Given the description of an element on the screen output the (x, y) to click on. 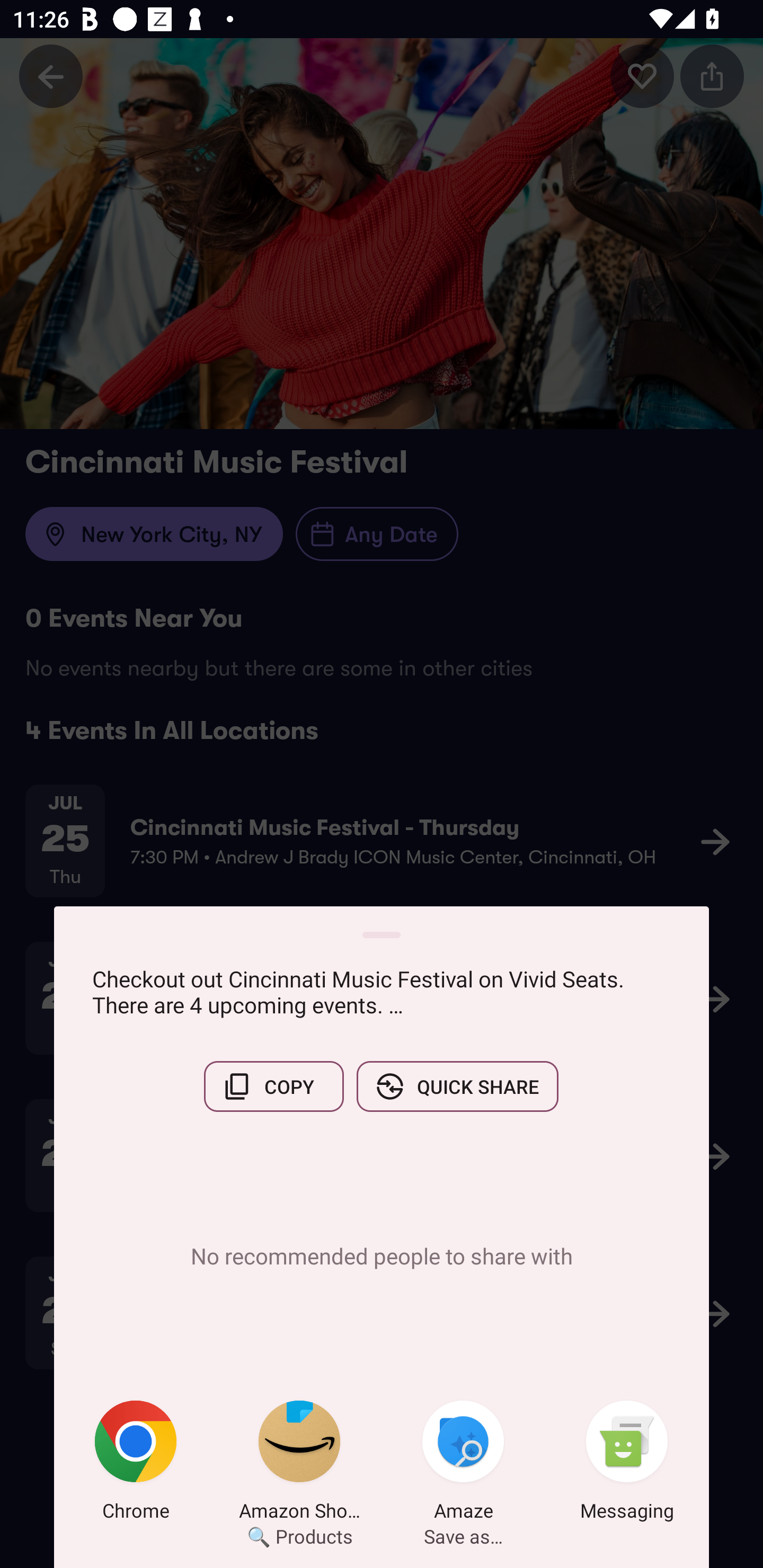
COPY (273, 1086)
QUICK SHARE (457, 1086)
Chrome (135, 1463)
Amazon Shopping 🔍 Products (299, 1463)
Amaze Save as… (463, 1463)
Messaging (626, 1463)
